Given the description of an element on the screen output the (x, y) to click on. 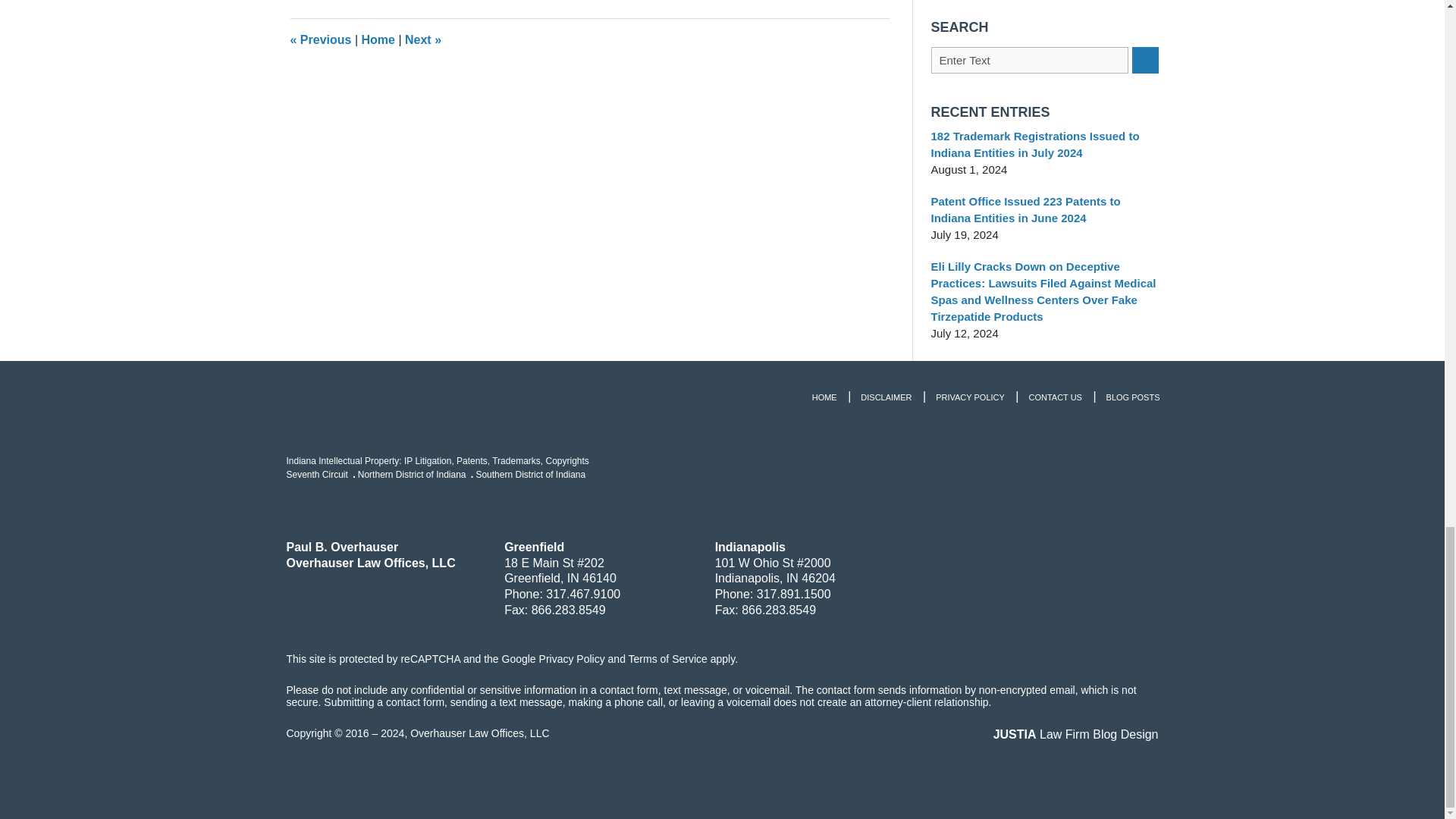
Home (377, 39)
